Given the description of an element on the screen output the (x, y) to click on. 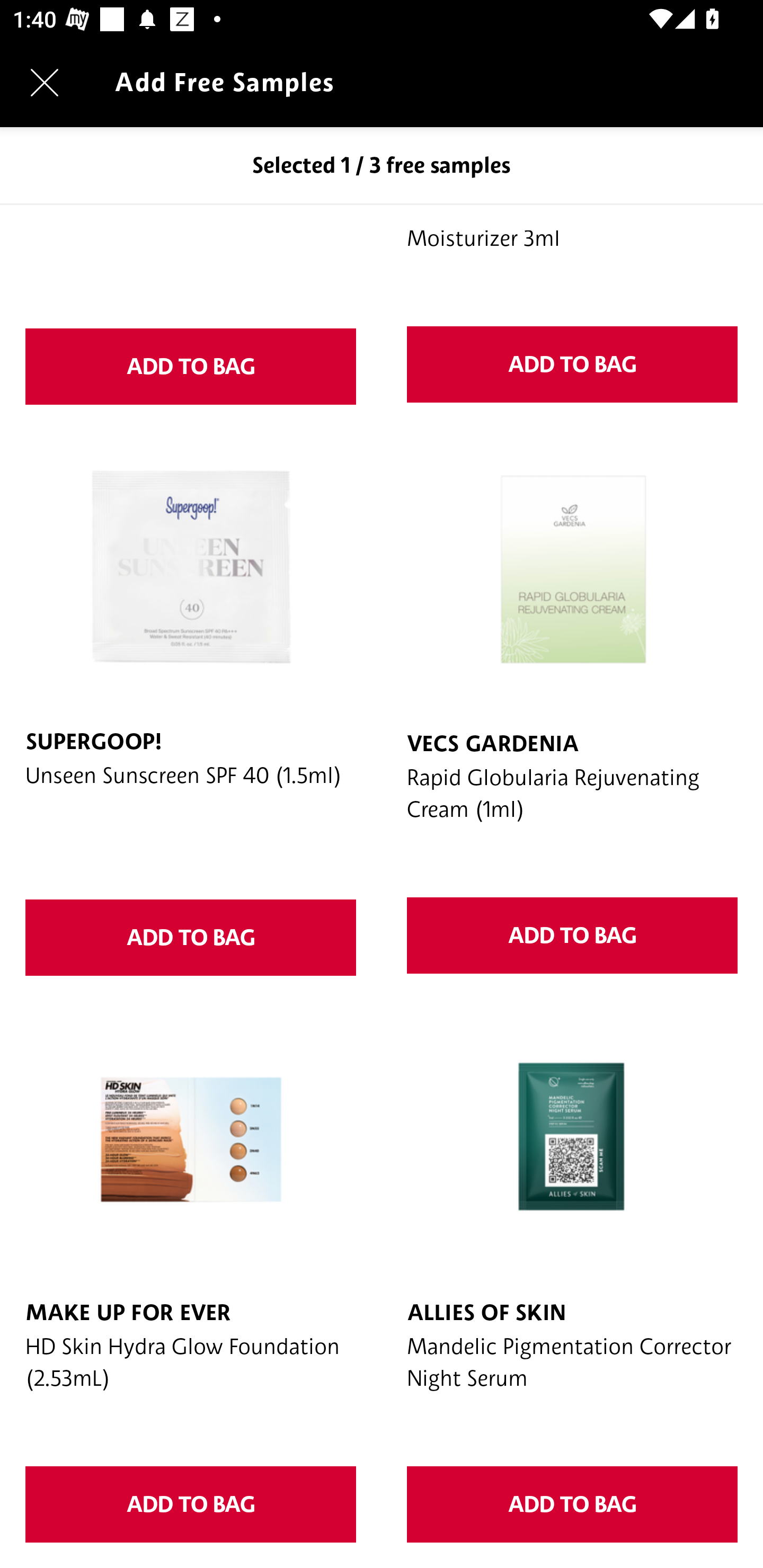
Navigate up (44, 82)
ADD TO BAG (571, 364)
ADD TO BAG (190, 365)
ADD TO BAG (571, 934)
ADD TO BAG (190, 937)
ADD TO BAG (190, 1504)
ADD TO BAG (571, 1504)
